Given the description of an element on the screen output the (x, y) to click on. 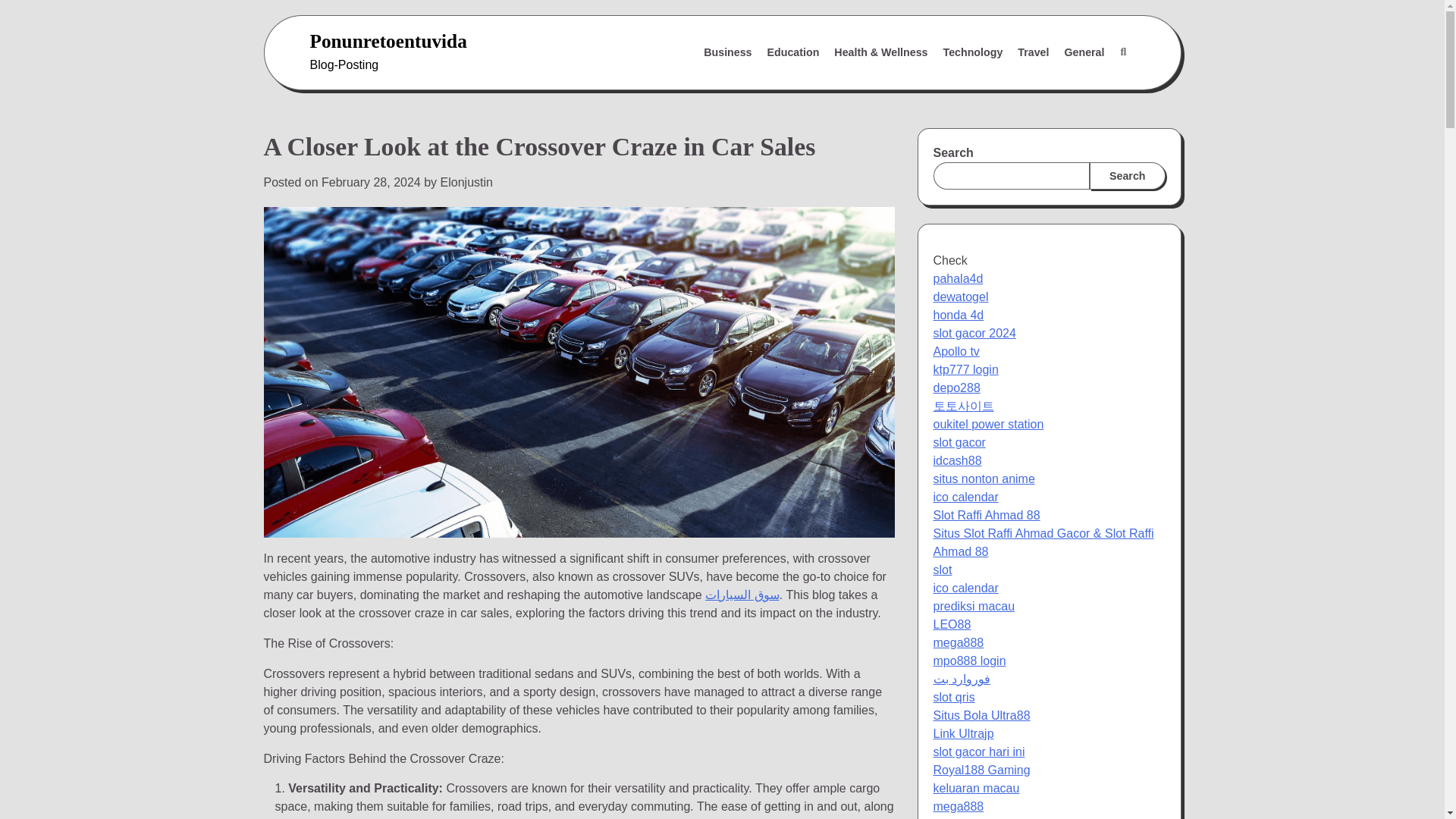
pahala4d (957, 278)
LEO88 (952, 624)
Search (1086, 88)
oukitel power station (988, 423)
idcash88 (957, 460)
February 28, 2024 (370, 182)
ktp777 login (965, 369)
dewatogel (960, 296)
situs nonton anime (983, 478)
honda 4d (958, 314)
Elonjustin (467, 182)
Ponunretoentuvida (386, 40)
Travel (1033, 51)
Business (726, 51)
slot (942, 569)
